Given the description of an element on the screen output the (x, y) to click on. 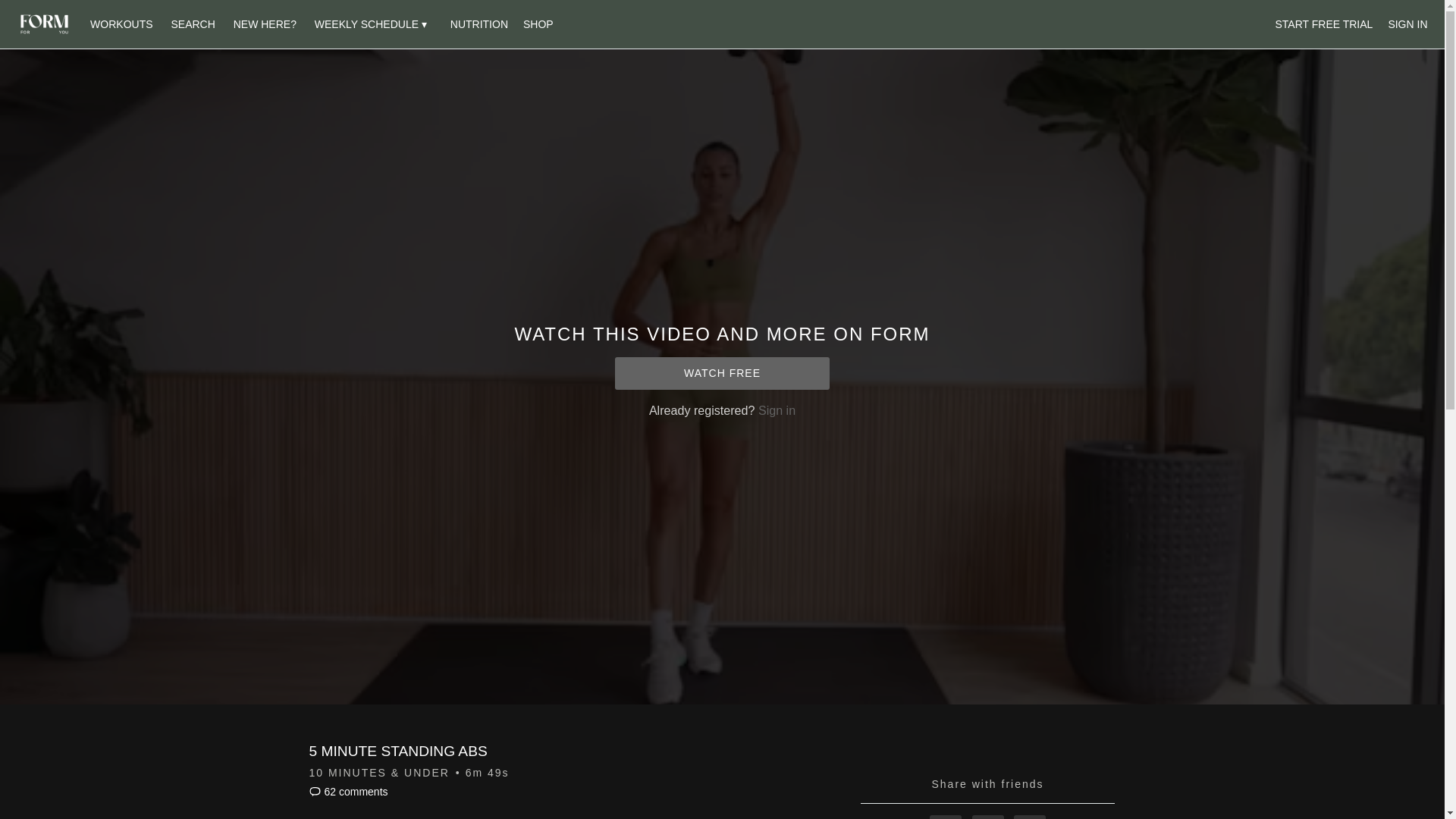
SEARCH (194, 24)
Email (1029, 816)
WORKOUTS (121, 24)
SHOP (537, 24)
Skip to main content (48, 7)
View Latest Comments (348, 791)
Twitter (988, 816)
62 comments (348, 791)
Sign in (776, 409)
SIGN IN (1406, 24)
WATCH FREE (721, 373)
START FREE TRIAL (1324, 24)
NUTRITION (478, 24)
NEW HERE? (264, 24)
Facebook (945, 816)
